Given the description of an element on the screen output the (x, y) to click on. 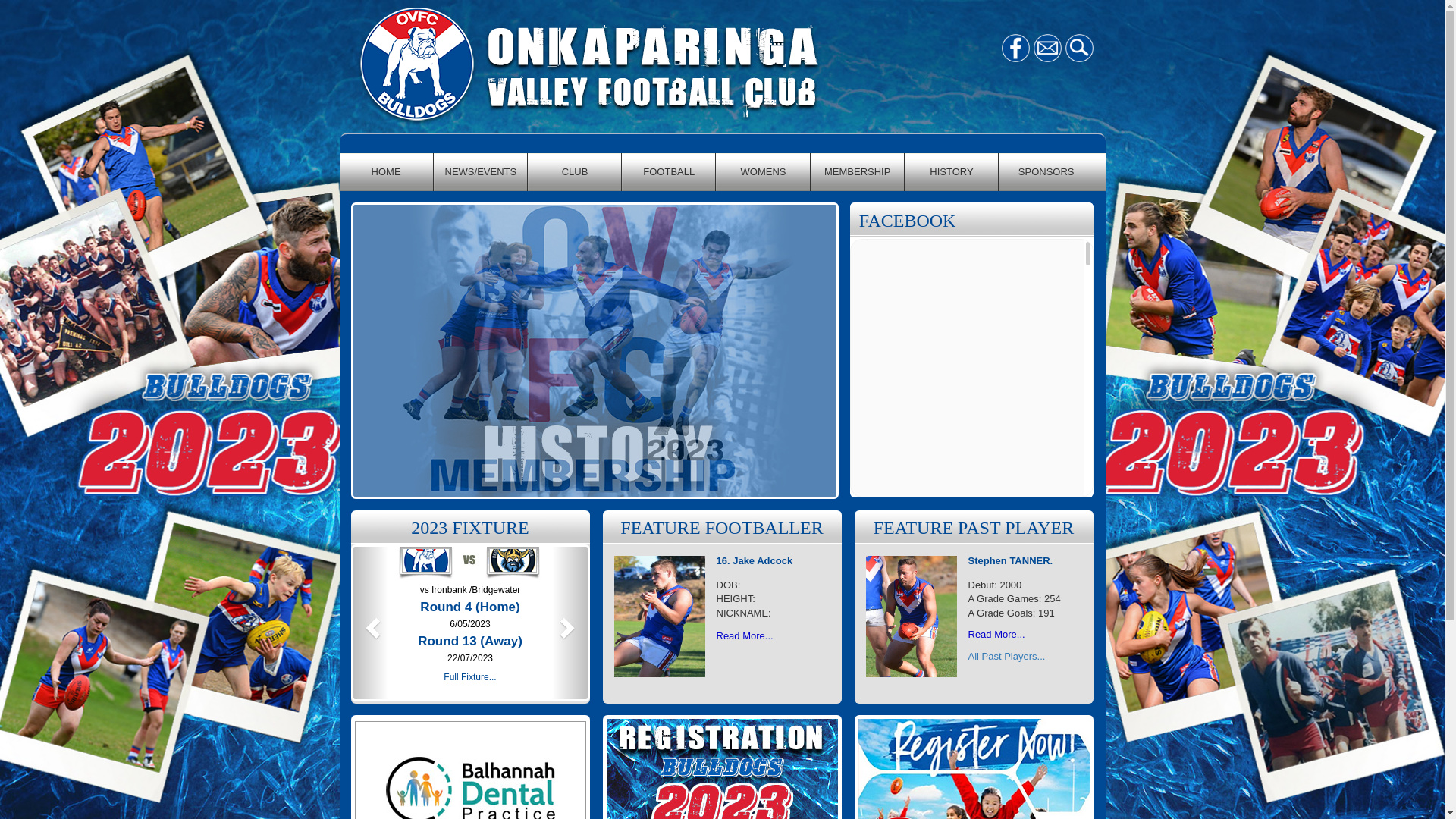
HISTORY Element type: text (951, 172)
SPONSORS Element type: text (1045, 172)
WOMENS Element type: text (762, 172)
MEMBERSHIP Element type: text (857, 172)
Full Fixture... Element type: text (469, 676)
Read More... Element type: text (995, 634)
Previous Element type: text (370, 622)
Next Element type: text (569, 622)
FOOTBALL Element type: text (668, 172)
Stephen TANNER. Element type: text (1009, 560)
Read More... Element type: text (743, 635)
NEWS/EVENTS Element type: text (480, 172)
CLUB Element type: text (574, 172)
All Past Players... Element type: text (1005, 656)
HOME Element type: text (386, 172)
16. Jake Adcock Element type: text (753, 560)
